Given the description of an element on the screen output the (x, y) to click on. 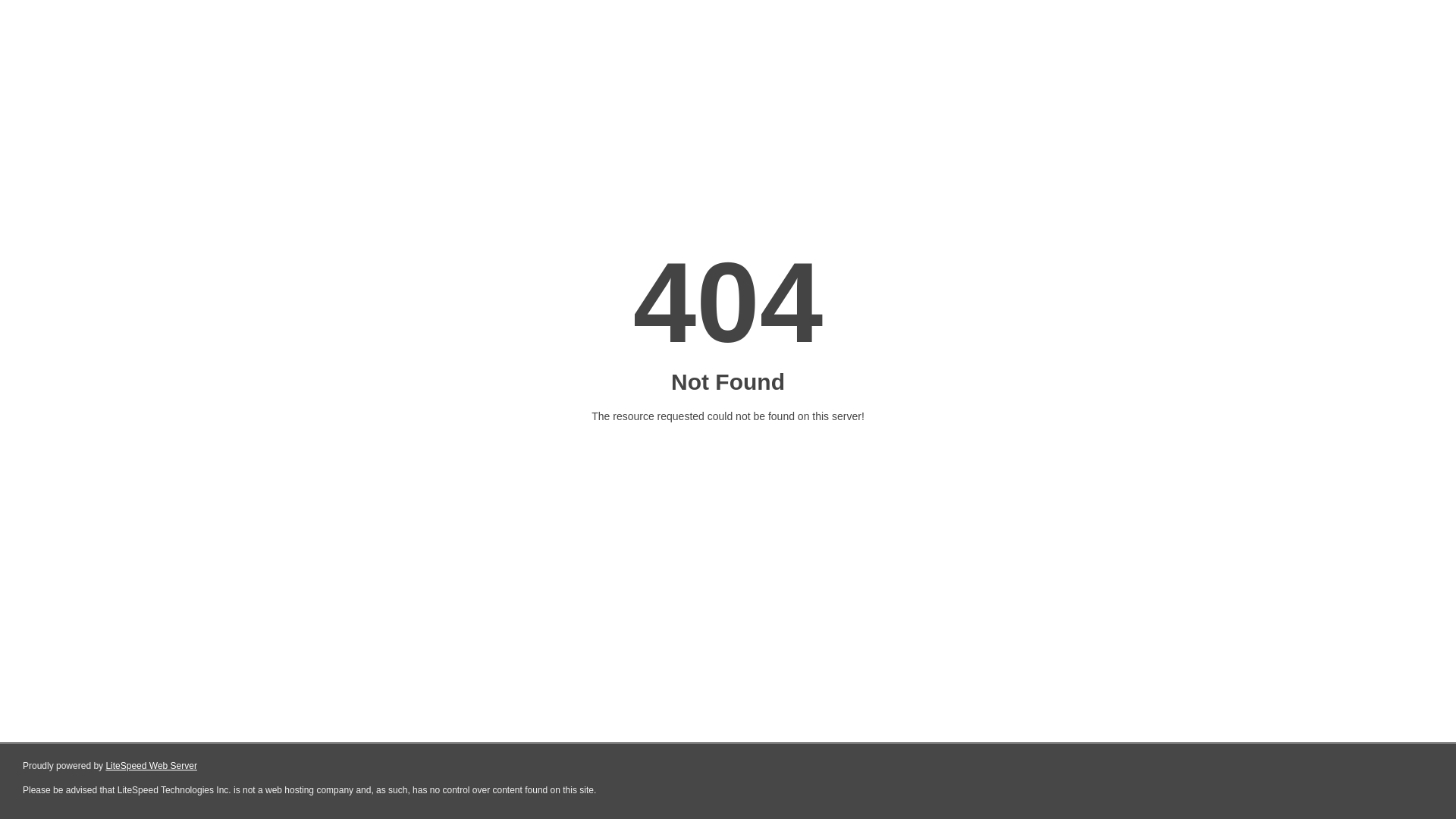
LiteSpeed Web Server Element type: text (151, 765)
